Given the description of an element on the screen output the (x, y) to click on. 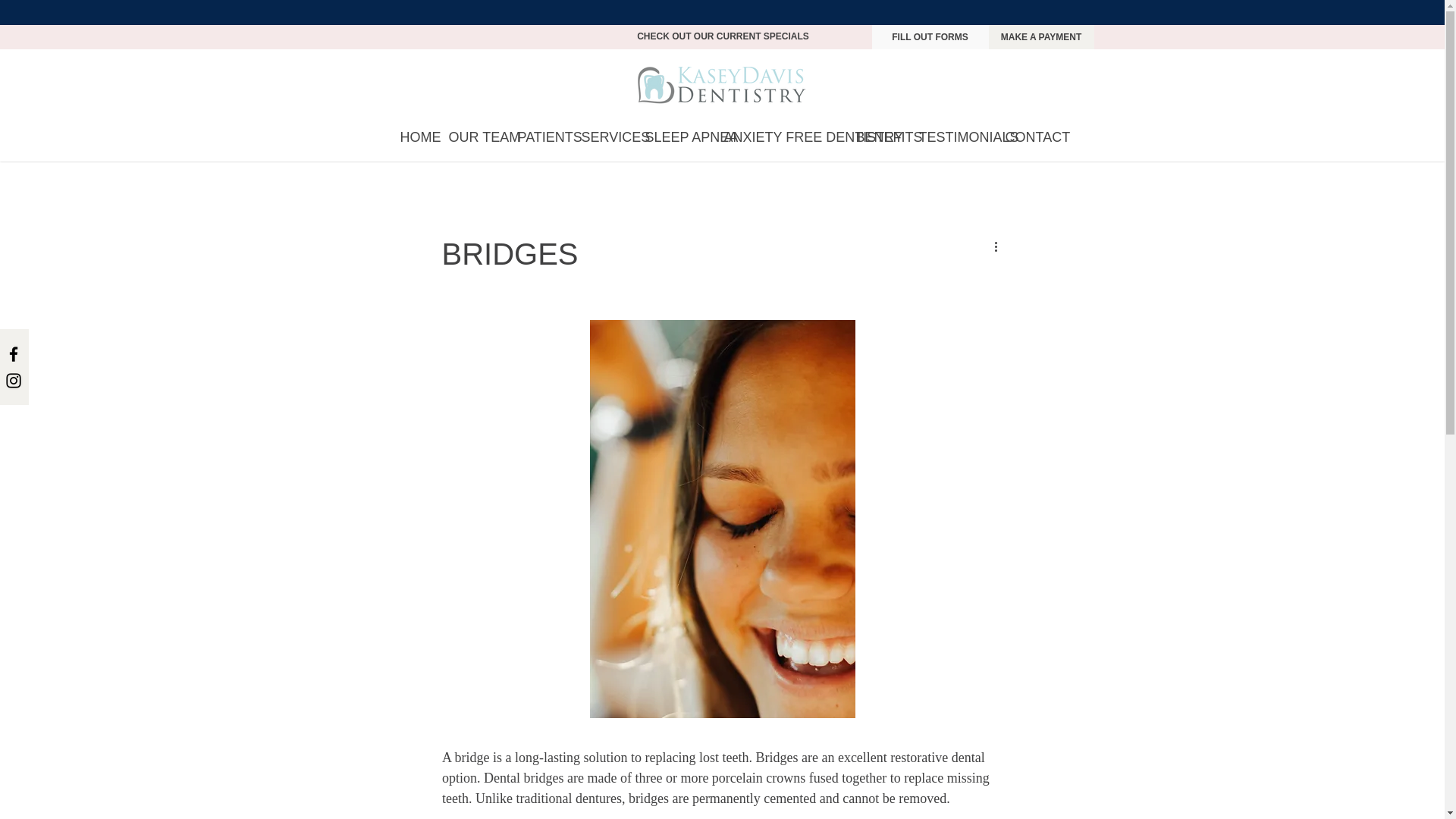
PATIENTS (537, 136)
SLEEP APNEA (671, 136)
HOME (412, 136)
BENEFITS (874, 136)
ANXIETY FREE DENTISTRY (777, 136)
FILL OUT FORMS (930, 37)
CONTACT (1024, 136)
OUR TEAM (470, 136)
SERVICES (600, 136)
MAKE A PAYMENT (1041, 37)
